Given the description of an element on the screen output the (x, y) to click on. 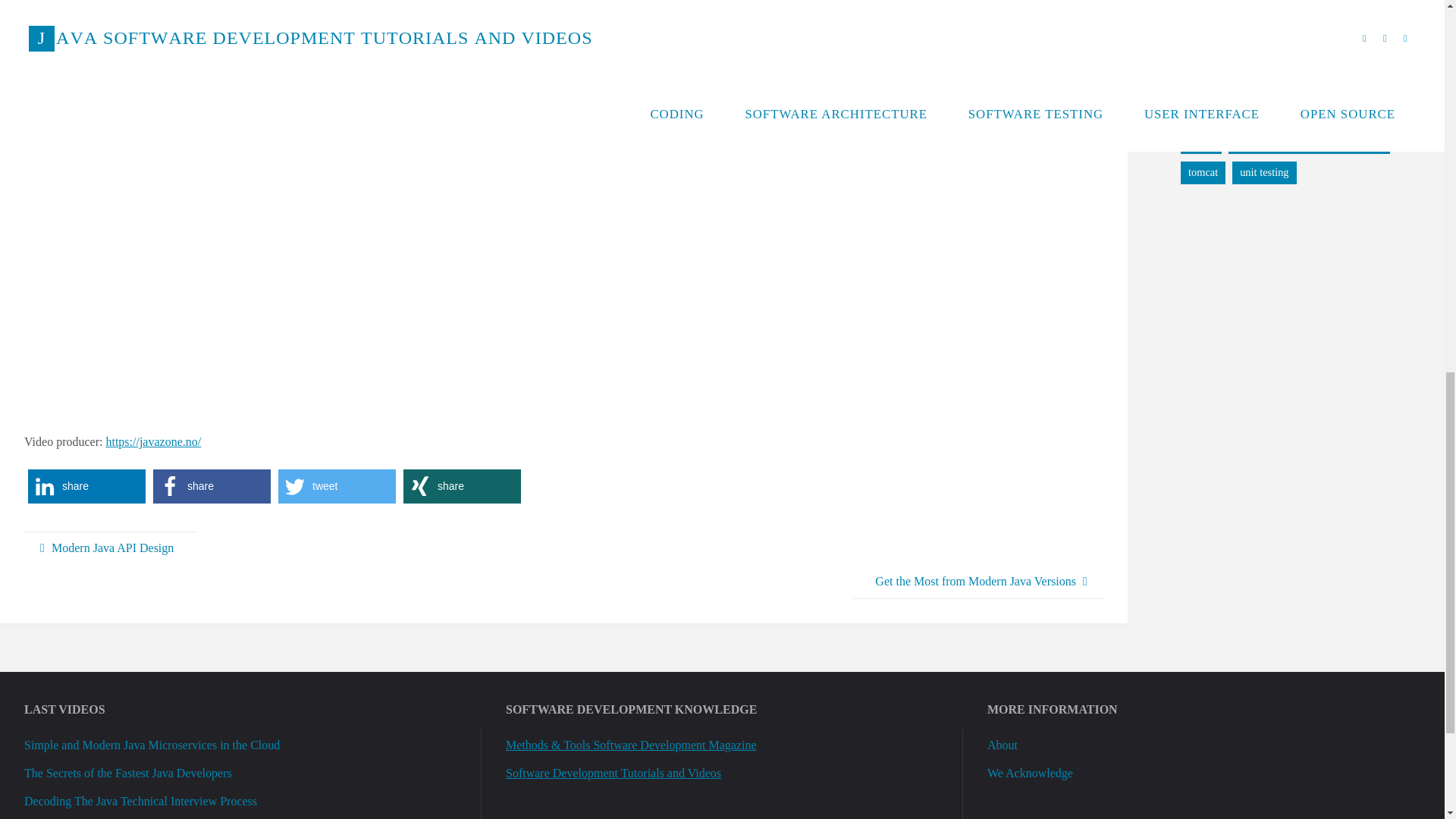
share  (86, 486)
Share on Facebook (211, 486)
share  (462, 486)
Share on LinkedIn (86, 486)
tweet  (337, 486)
Get the Most from Modern Java Versions (976, 581)
share  (211, 486)
Share on Twitter (337, 486)
Modern Java API Design (111, 548)
